Given the description of an element on the screen output the (x, y) to click on. 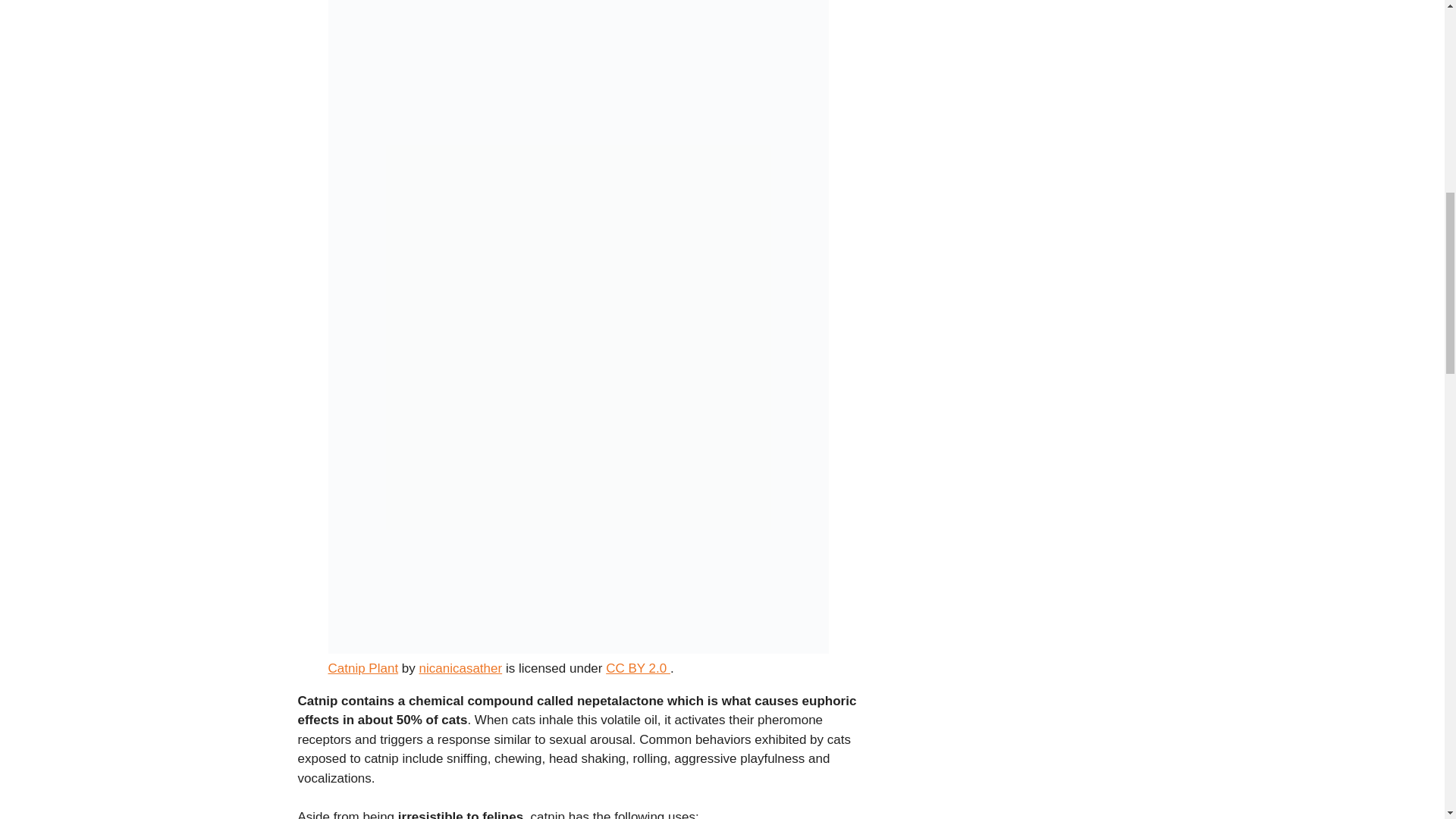
nicanicasather (460, 667)
CC BY 2.0 (637, 667)
Catnip Plant (362, 667)
